Given the description of an element on the screen output the (x, y) to click on. 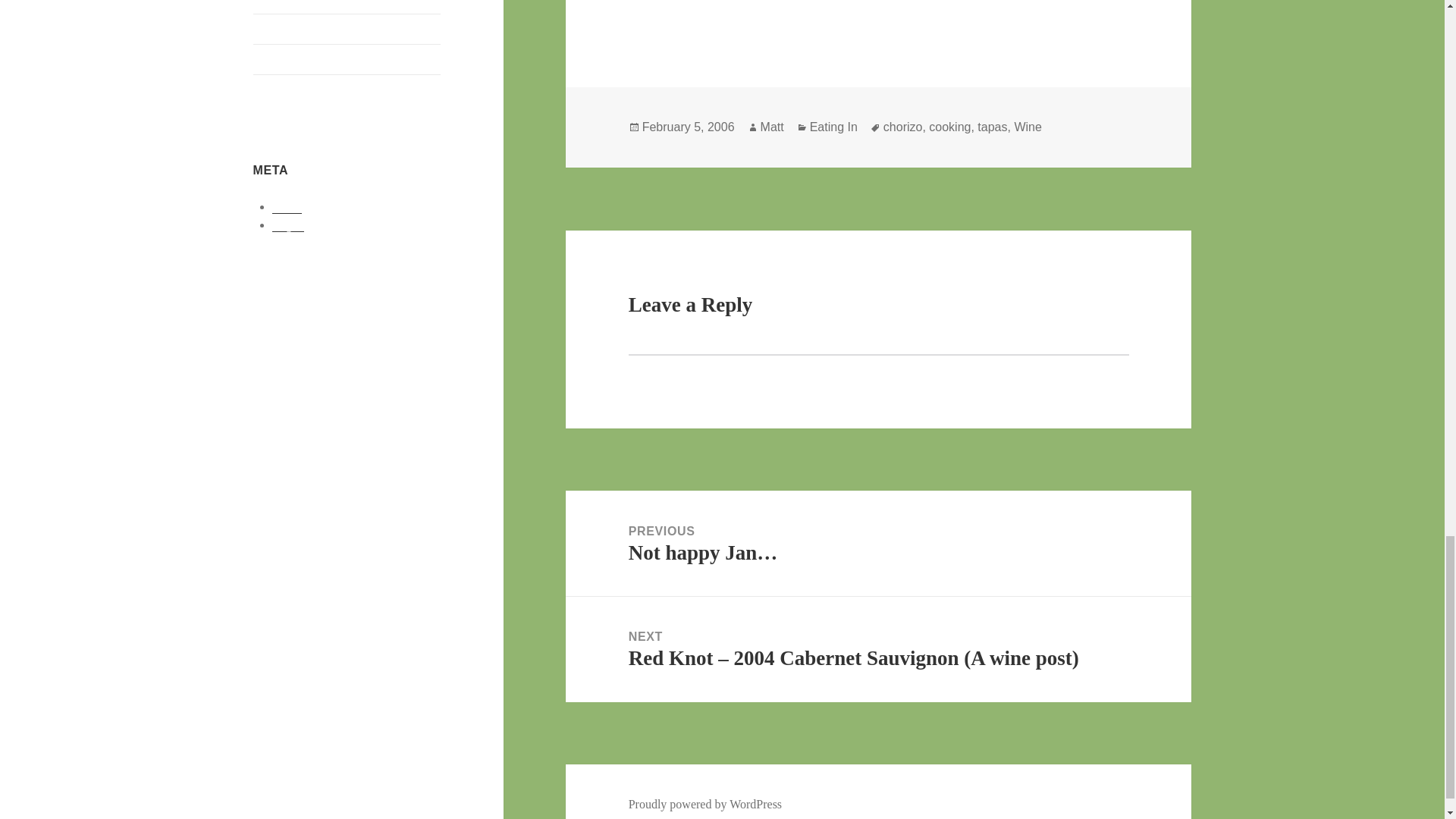
Laura Moseley (289, 29)
Blue Apocalypse (294, 2)
